Given the description of an element on the screen output the (x, y) to click on. 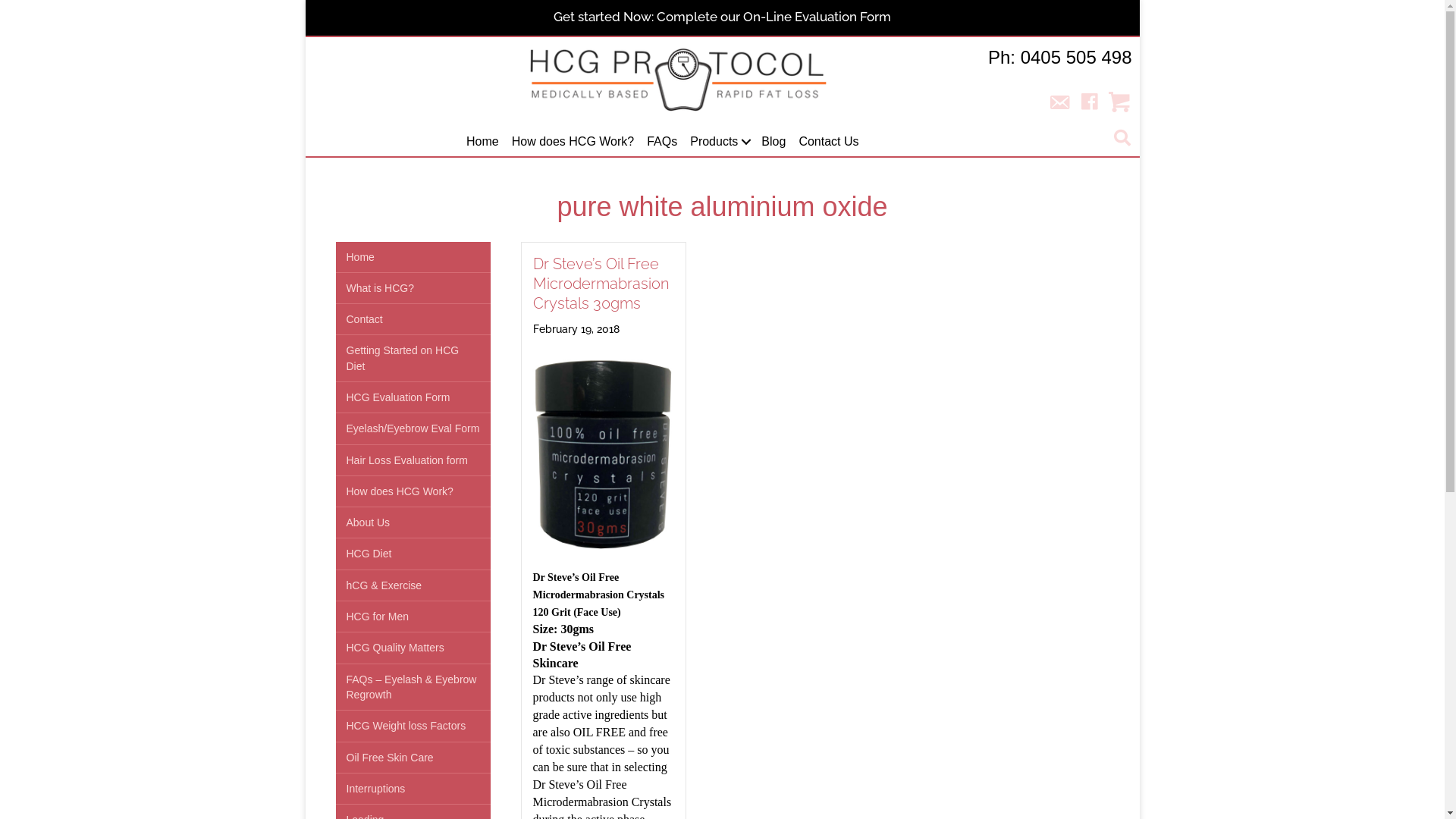
HCG for Men Element type: text (412, 616)
What is HCG? Element type: text (412, 288)
How does HCG Work? Element type: text (572, 141)
Hair Loss Evaluation form Element type: text (412, 460)
Contact Us Element type: text (828, 141)
pure white aluminium oxide Element type: text (721, 206)
About Us Element type: text (412, 522)
Getting Started on HCG Diet Element type: text (412, 358)
Blog Element type: text (773, 141)
How does HCG Work? Element type: text (412, 491)
FAQs Element type: text (661, 141)
Interruptions Element type: text (412, 788)
HCG Logo 400px Element type: hover (677, 78)
hCG & Exercise Element type: text (412, 585)
Oil Free Skin Care Element type: text (412, 757)
Contact Element type: text (412, 319)
HCG Weight loss Factors Element type: text (412, 725)
HCG Quality Matters Element type: text (412, 647)
Products Element type: text (719, 141)
Home Element type: text (482, 141)
HCG Diet Element type: text (412, 553)
Eyelash/Eyebrow Eval Form Element type: text (412, 428)
Get started Now: Complete our On-Line Evaluation Form Element type: text (722, 16)
Home Element type: text (412, 256)
Ph: 0405 505 498 Element type: text (1060, 57)
HCG Evaluation Form Element type: text (412, 397)
